Given the description of an element on the screen output the (x, y) to click on. 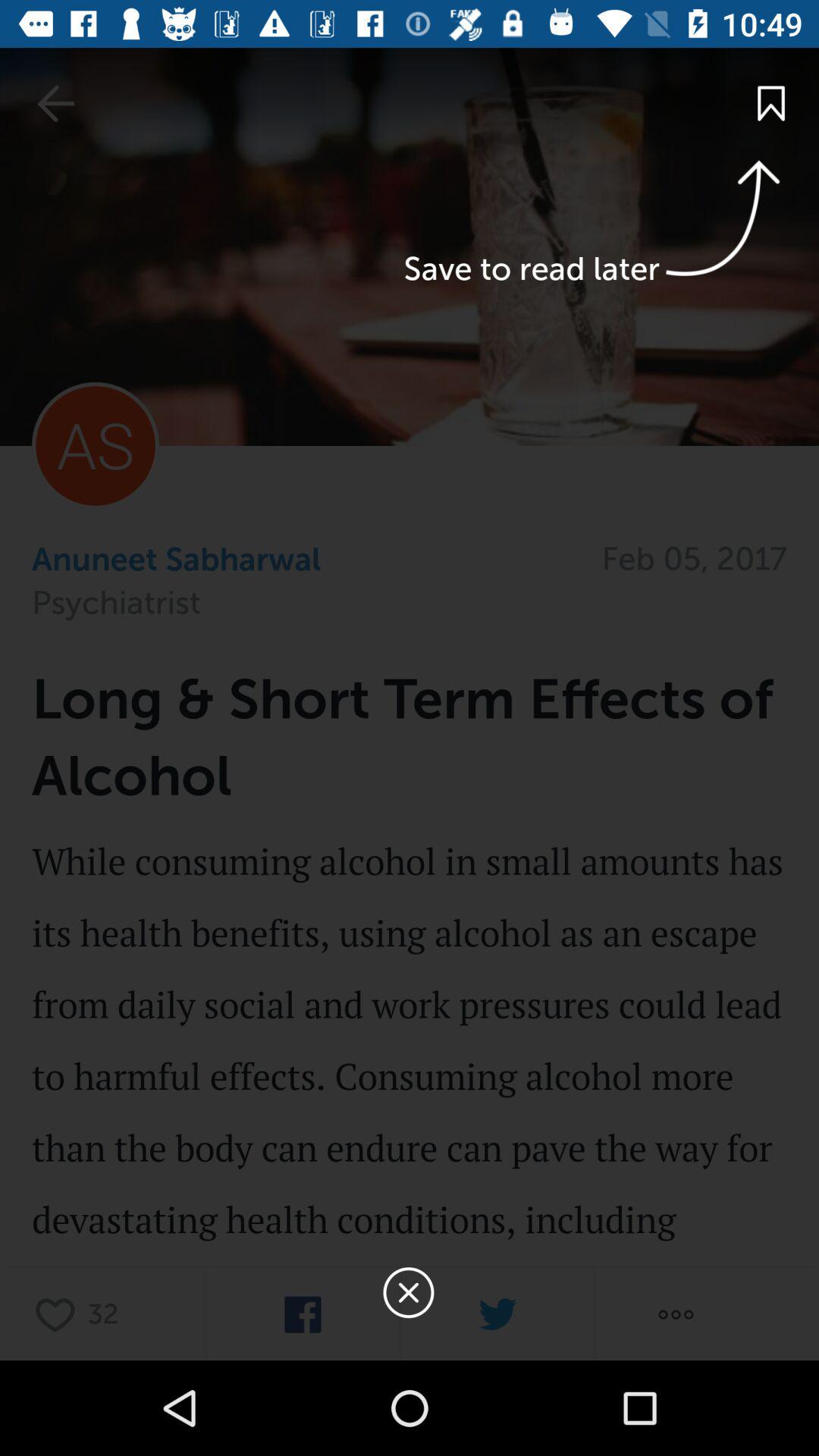
close the page (409, 1093)
